Given the description of an element on the screen output the (x, y) to click on. 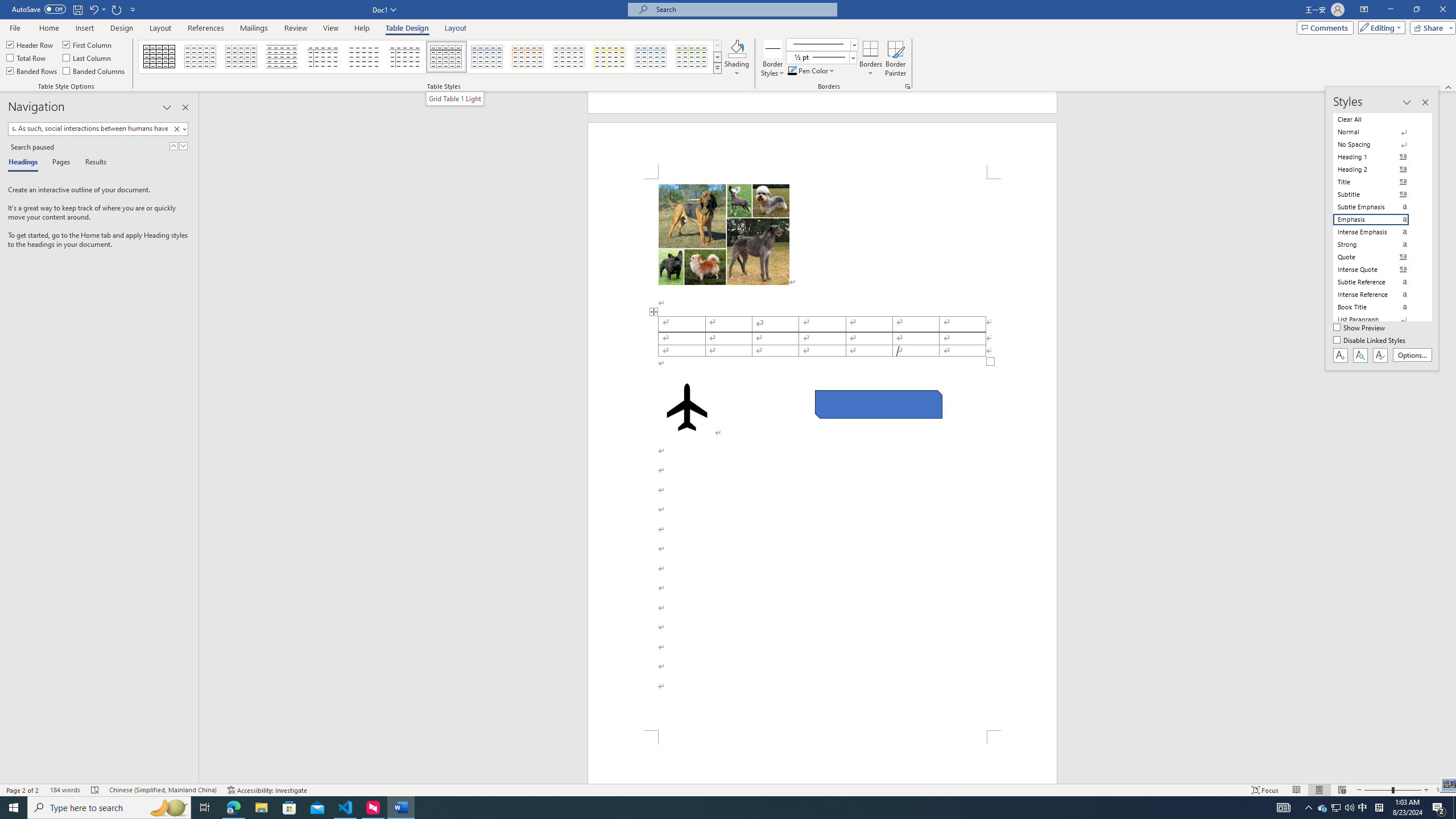
Intense Emphasis (1377, 232)
Grid Table 1 Light (446, 56)
Plain Table 4 (363, 56)
Table Grid (159, 56)
Plain Table 2 (282, 56)
Banded Rows (32, 69)
Border Painter (895, 58)
Disable Linked Styles (1370, 340)
Heading 1 (1377, 156)
Airplane with solid fill (686, 406)
AutomationID: TableStylesGalleryWord (430, 56)
